Given the description of an element on the screen output the (x, y) to click on. 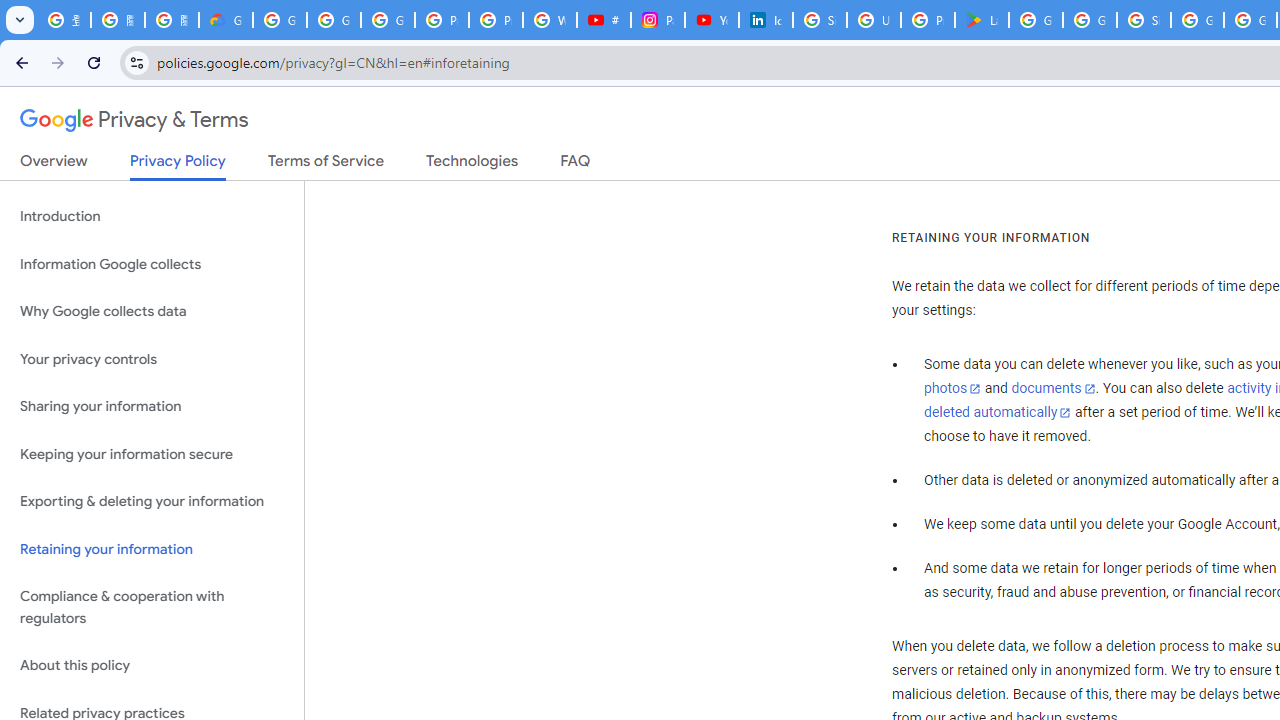
Technologies (472, 165)
#nbabasketballhighlights - YouTube (604, 20)
Privacy & Terms (134, 120)
Identity verification via Persona | LinkedIn Help (765, 20)
Last Shelter: Survival - Apps on Google Play (981, 20)
Privacy Help Center - Policies Help (495, 20)
Sign in - Google Accounts (819, 20)
